Given the description of an element on the screen output the (x, y) to click on. 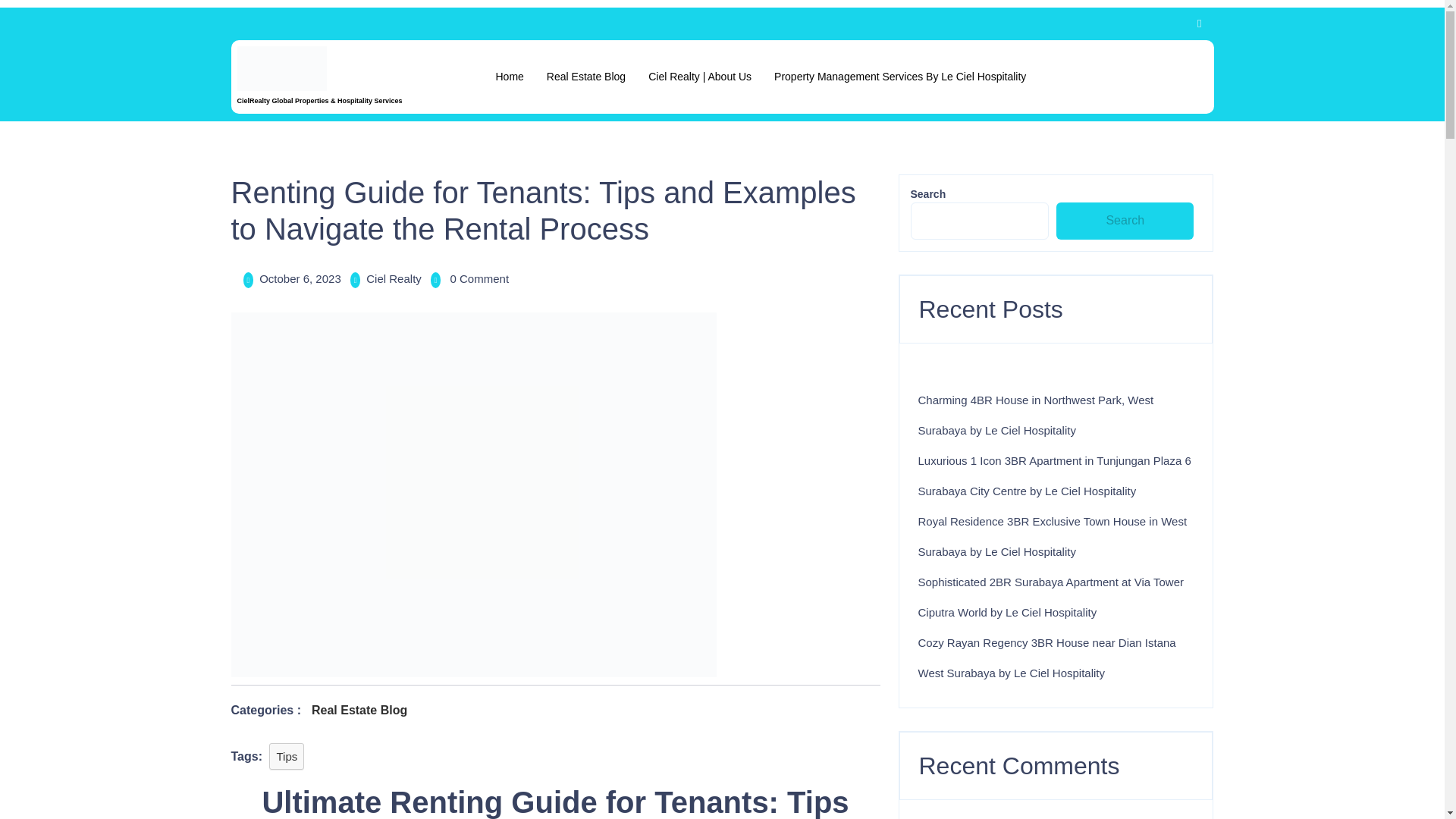
Home (509, 76)
Ciel Realty (394, 278)
October 6, 2023 (299, 278)
Property Management Services By Le Ciel Hospitality (899, 76)
Search (1125, 220)
Real Estate Blog (585, 76)
Tips (286, 755)
Real Estate Blog (359, 709)
